Given the description of an element on the screen output the (x, y) to click on. 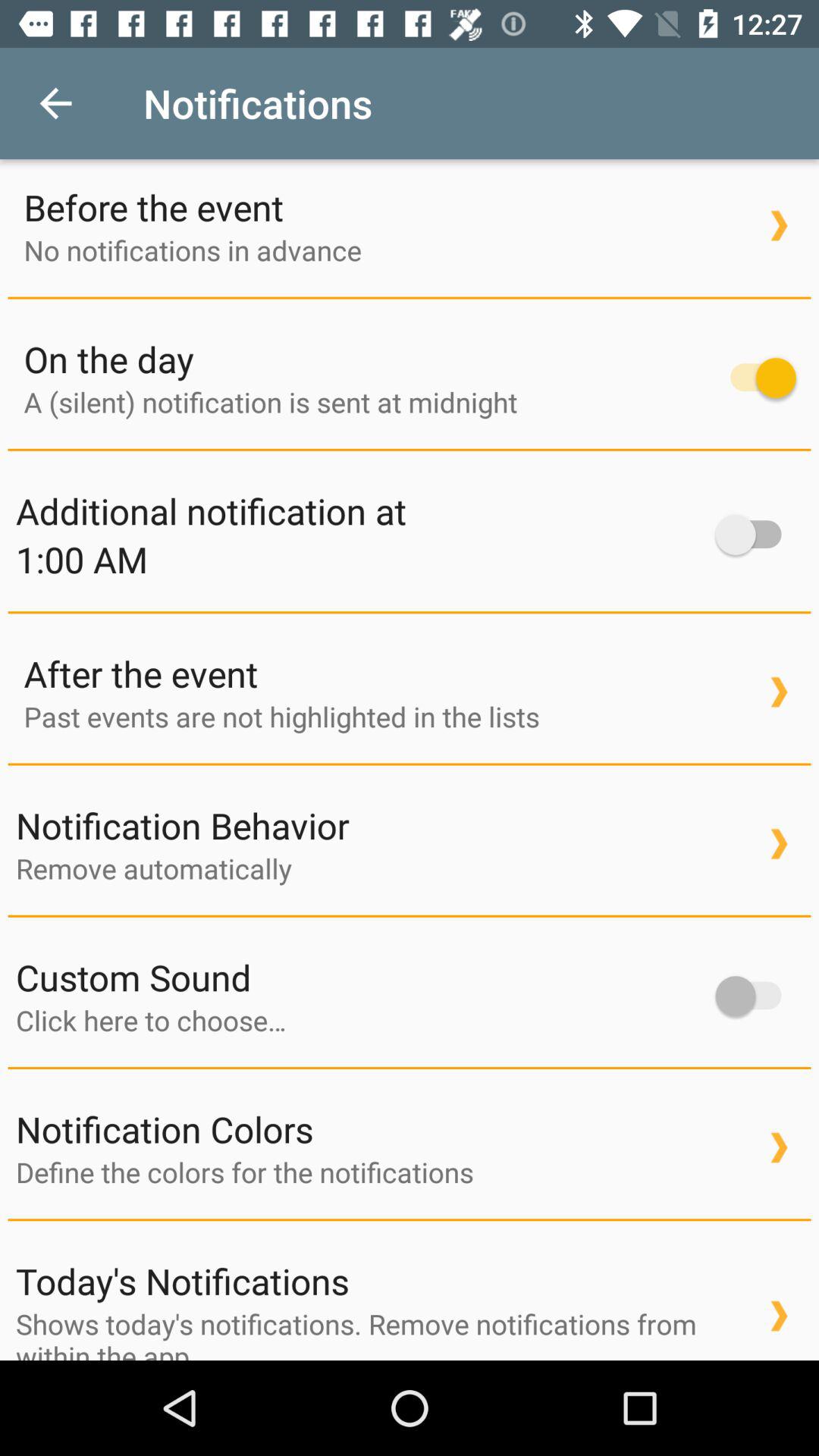
choose sound (357, 1020)
